Given the description of an element on the screen output the (x, y) to click on. 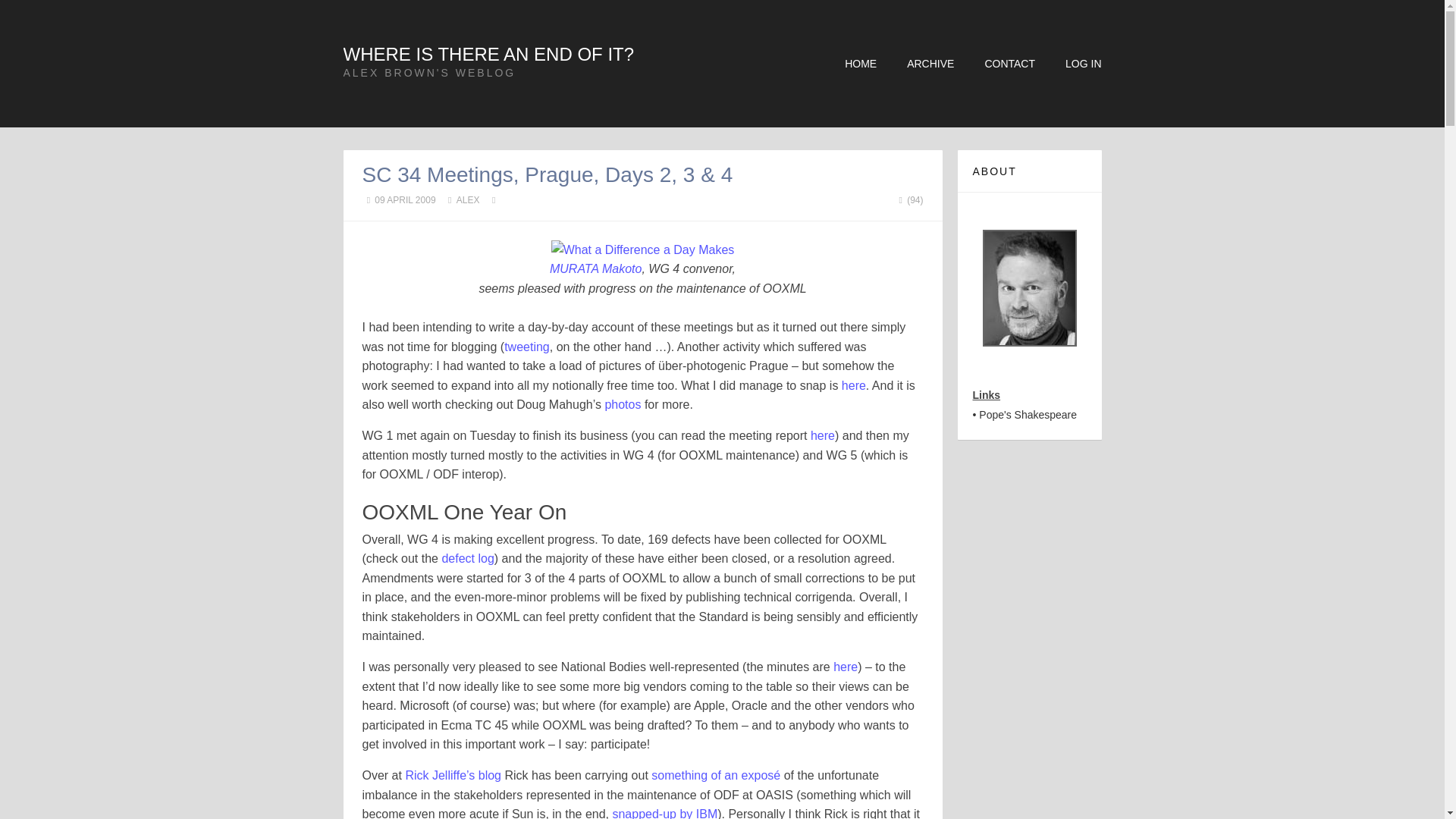
HOME (860, 63)
here (822, 435)
CONTACT (1009, 63)
here (853, 385)
LOG IN (1082, 63)
tweeting (526, 346)
defect log (467, 558)
photos (622, 404)
here (844, 666)
snapped-up by IBM (664, 813)
